Given the description of an element on the screen output the (x, y) to click on. 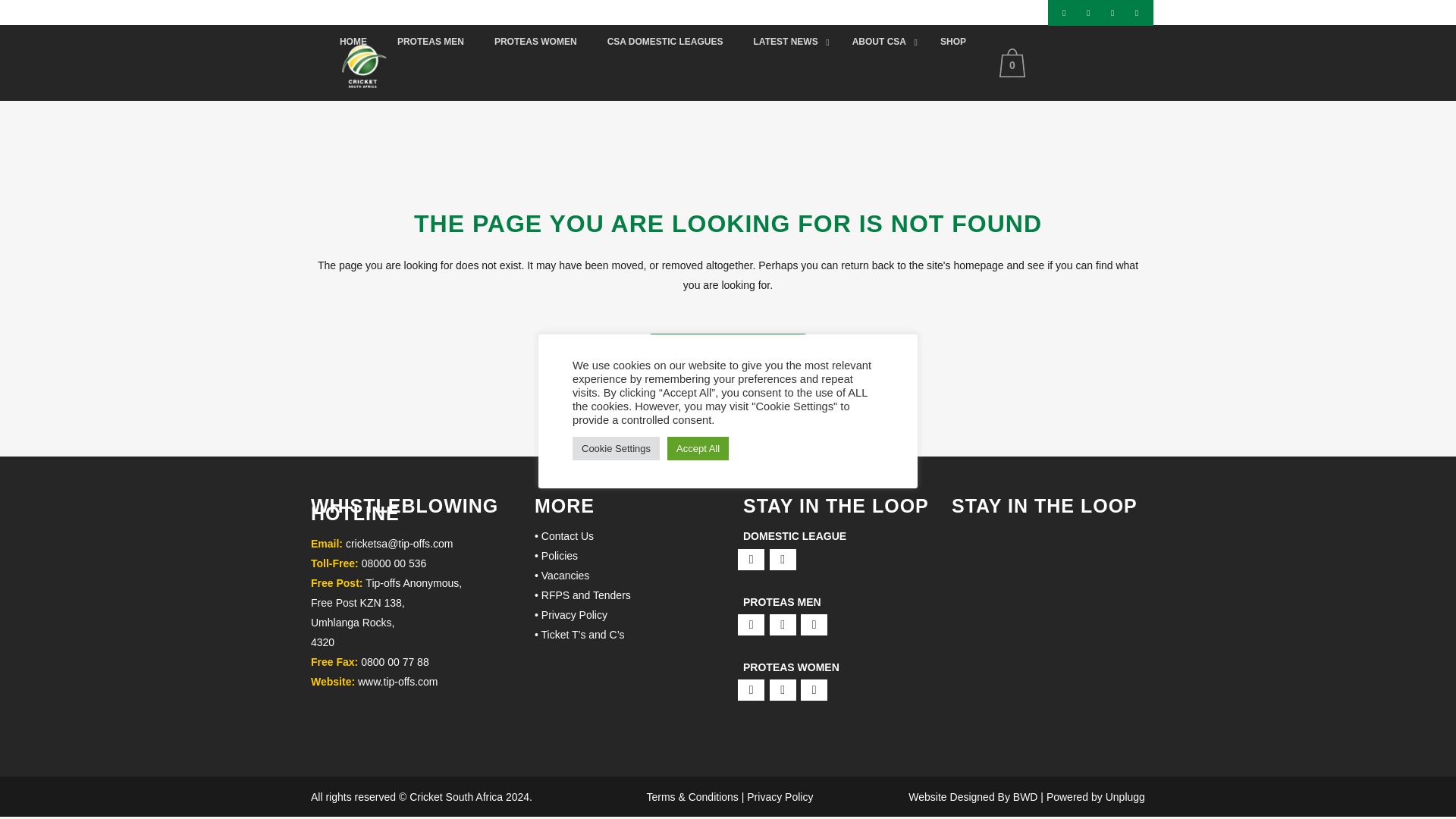
LATEST NEWS (787, 42)
BACK TO HOMEPAGE (727, 349)
HOME (352, 42)
PROTEAS WOMEN (535, 42)
ABOUT CSA (880, 42)
0 (1015, 62)
CSA DOMESTIC LEAGUES (665, 42)
SHOP (952, 42)
PROTEAS MEN (430, 42)
